Given the description of an element on the screen output the (x, y) to click on. 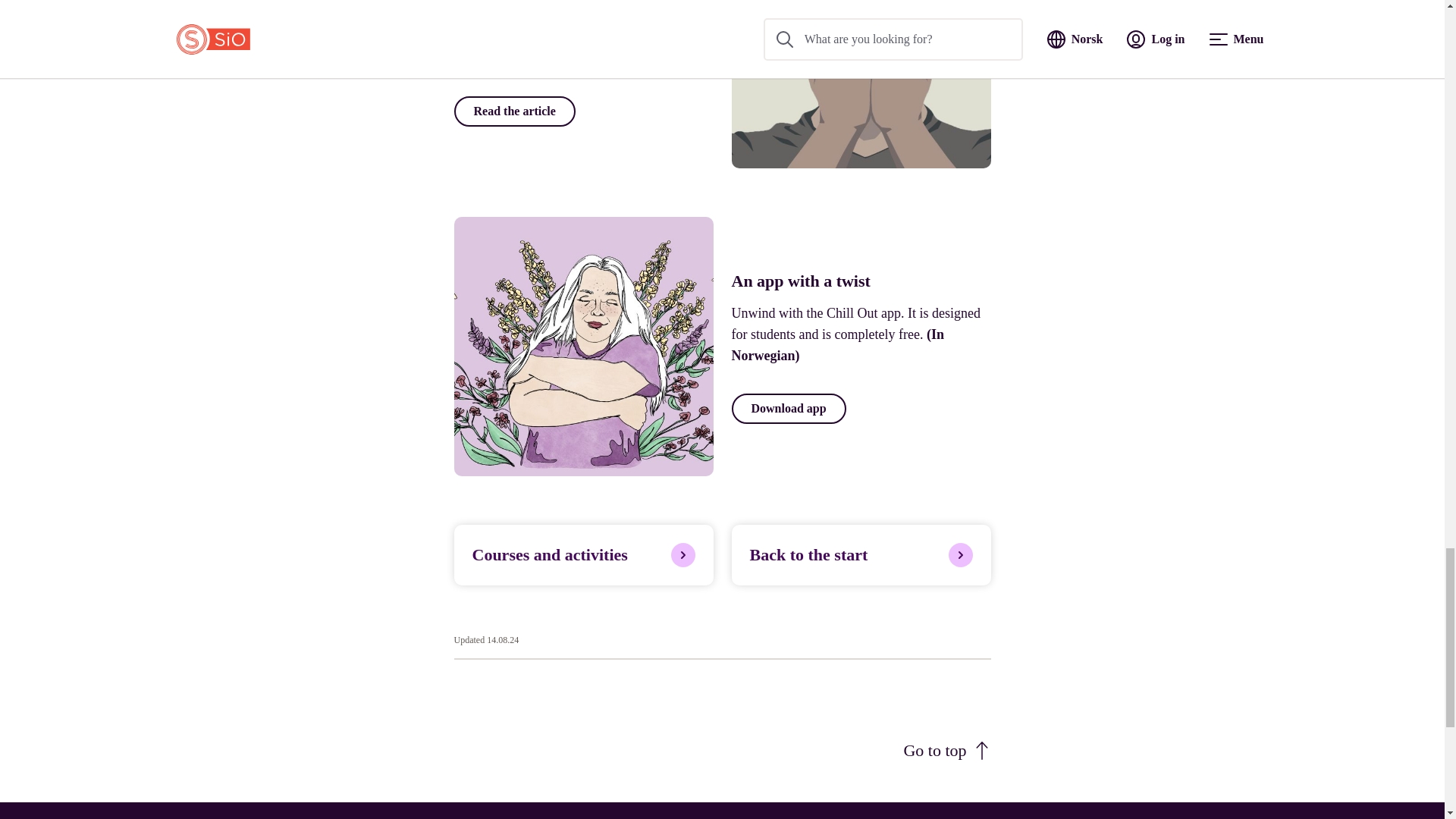
Download app (787, 408)
Go to top (946, 750)
arrow-up (981, 751)
Back to the start (860, 554)
Read the article (513, 111)
Courses and activities (582, 554)
